Given the description of an element on the screen output the (x, y) to click on. 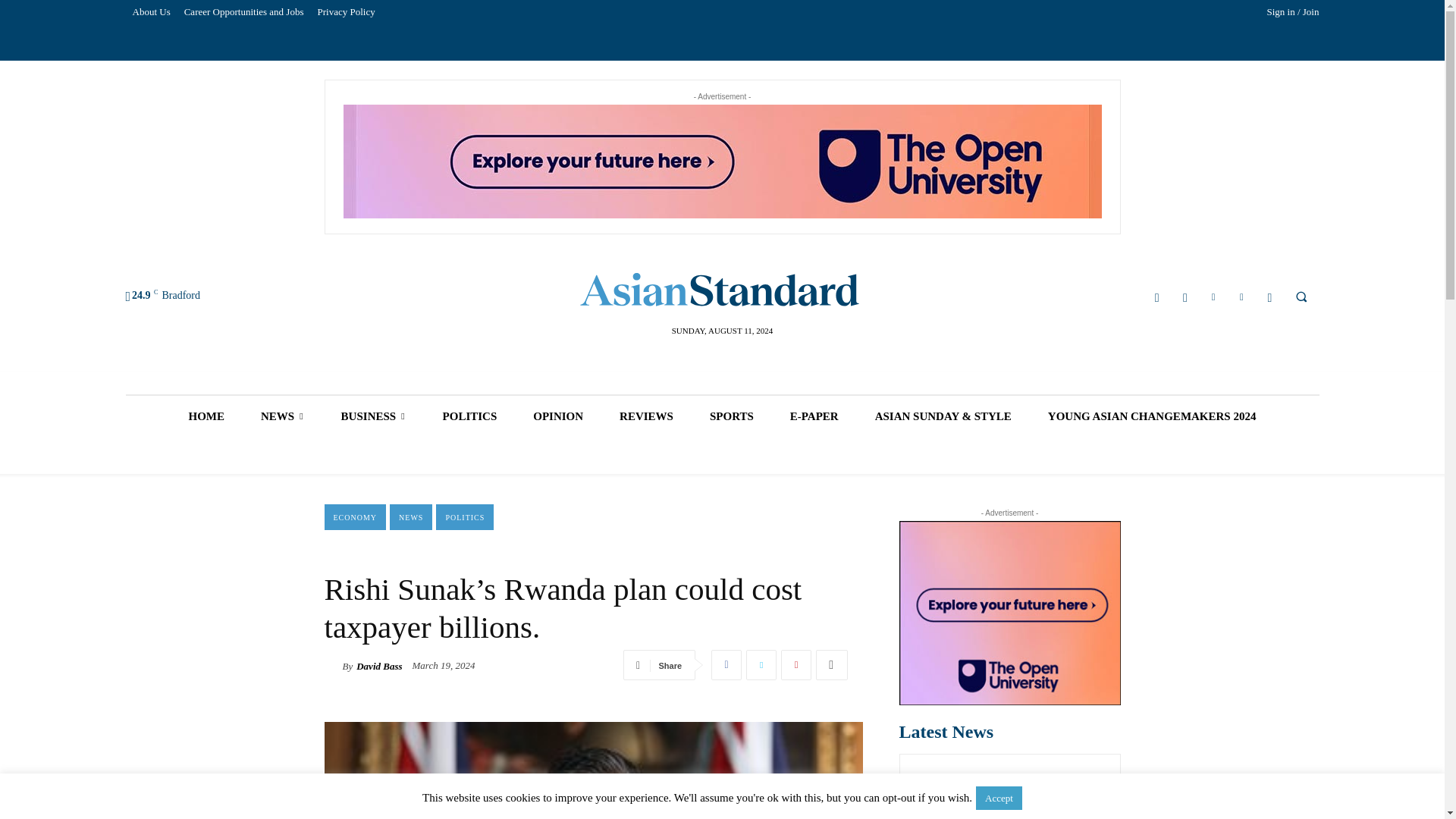
Youtube (1269, 297)
Twitter (760, 665)
Pinterest (795, 665)
Instagram (1184, 297)
Privacy Policy (345, 12)
About Us (151, 12)
Linkedin (1214, 297)
Facebook (1157, 297)
Facebook (726, 665)
